Given the description of an element on the screen output the (x, y) to click on. 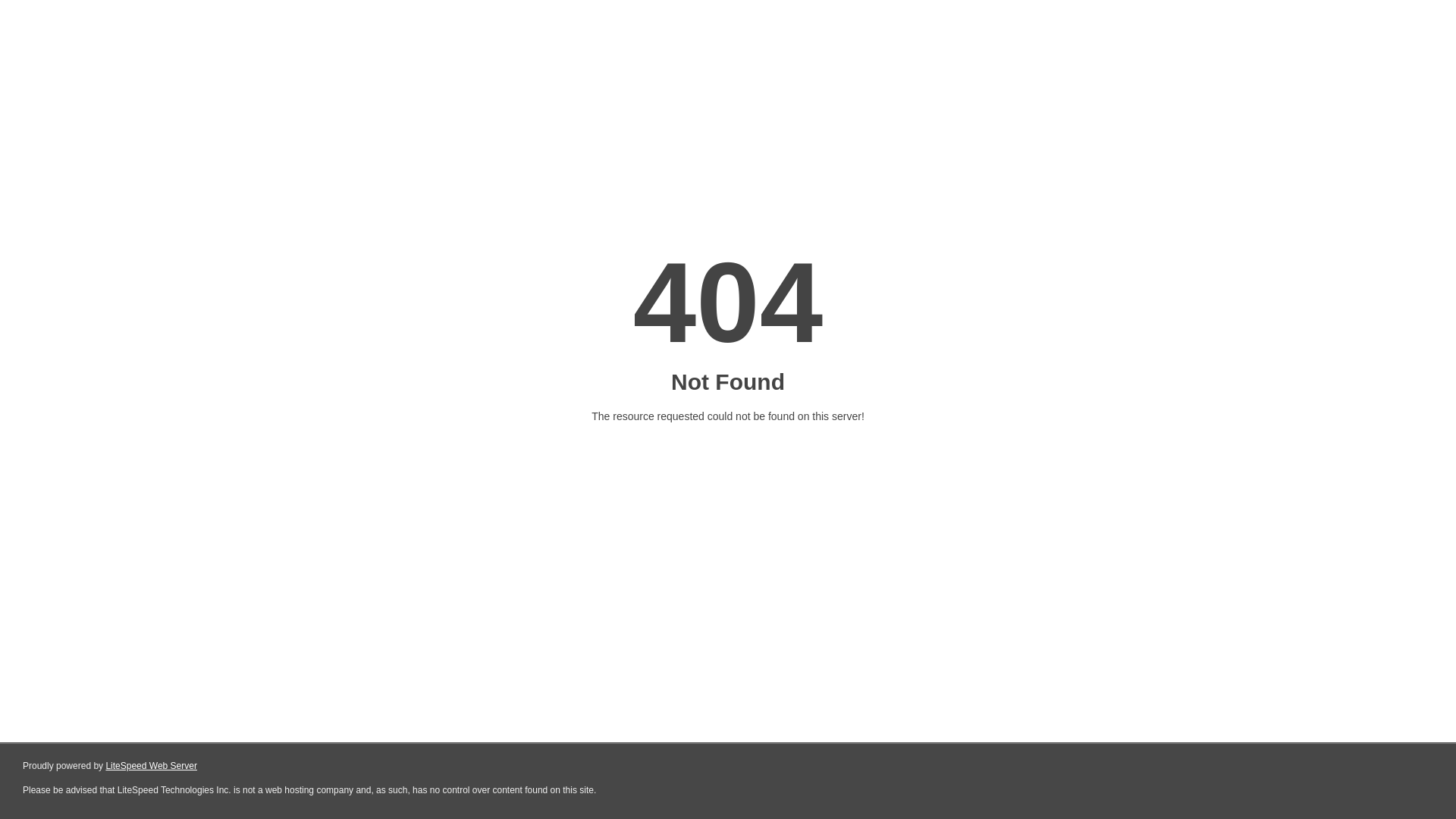
LiteSpeed Web Server Element type: text (151, 765)
